Given the description of an element on the screen output the (x, y) to click on. 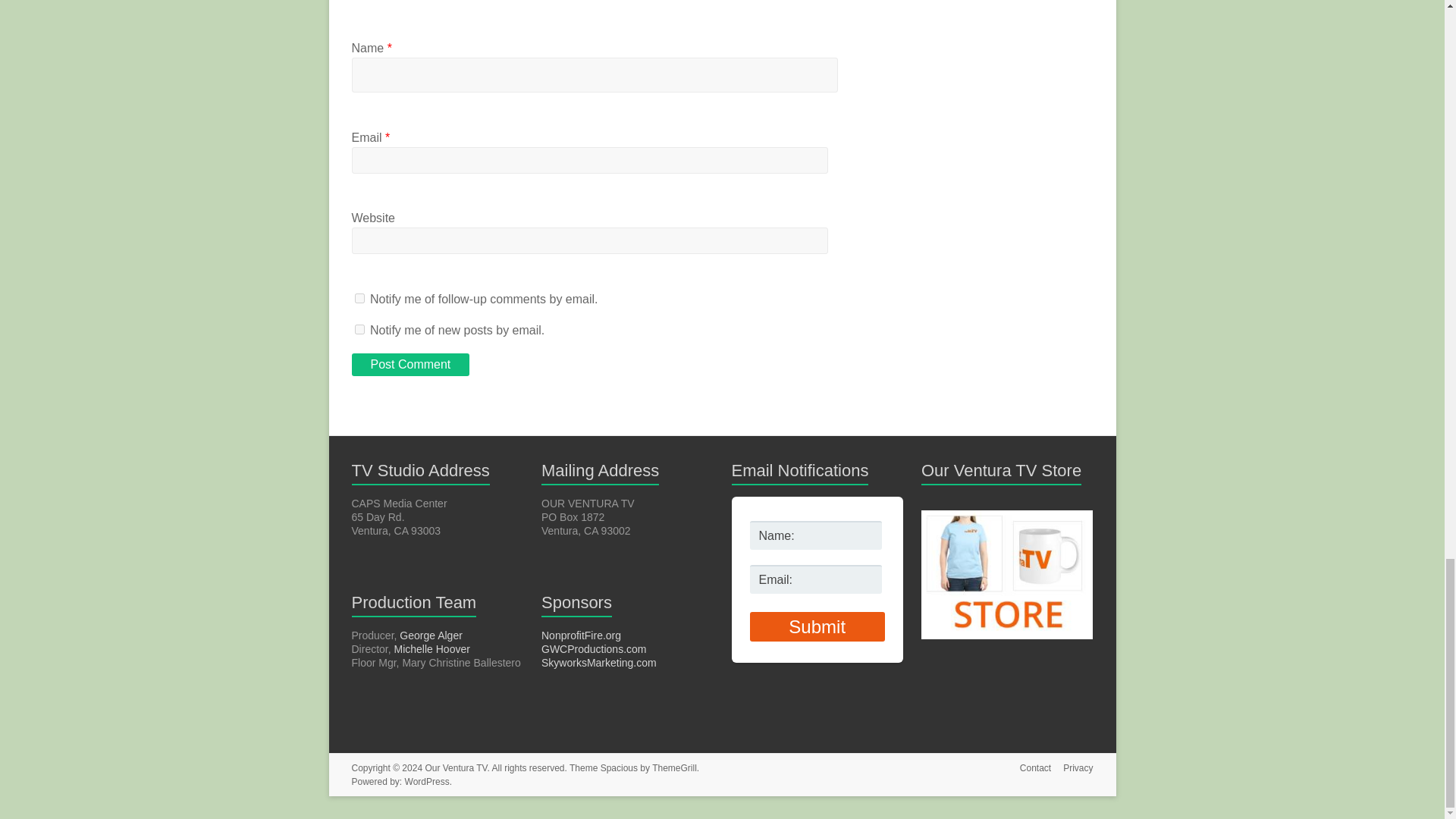
Post Comment (411, 363)
Spacious (618, 767)
Our Ventura TV (455, 767)
Email: (815, 579)
subscribe (360, 329)
Submit (816, 626)
WordPress (426, 781)
Post Comment (411, 363)
subscribe (360, 297)
Name: (815, 534)
